Given the description of an element on the screen output the (x, y) to click on. 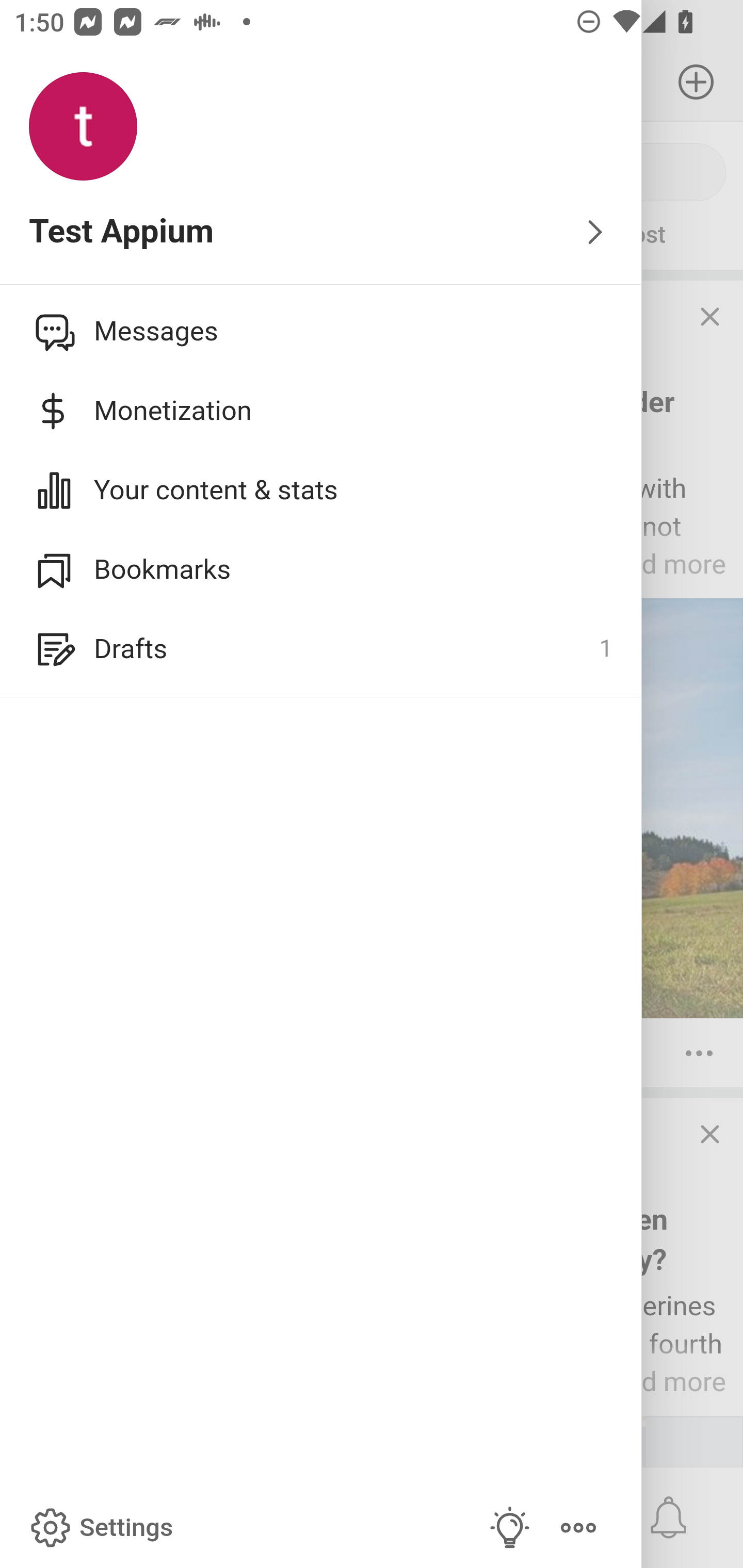
Profile photo for Test Appium (82, 126)
Test Appium (321, 232)
Messages (321, 330)
Monetization (321, 410)
Your content & stats (321, 489)
Bookmarks (321, 568)
Drafts 1 Drafts 1 (321, 648)
1 (605, 648)
Settings (99, 1527)
More (578, 1527)
